Given the description of an element on the screen output the (x, y) to click on. 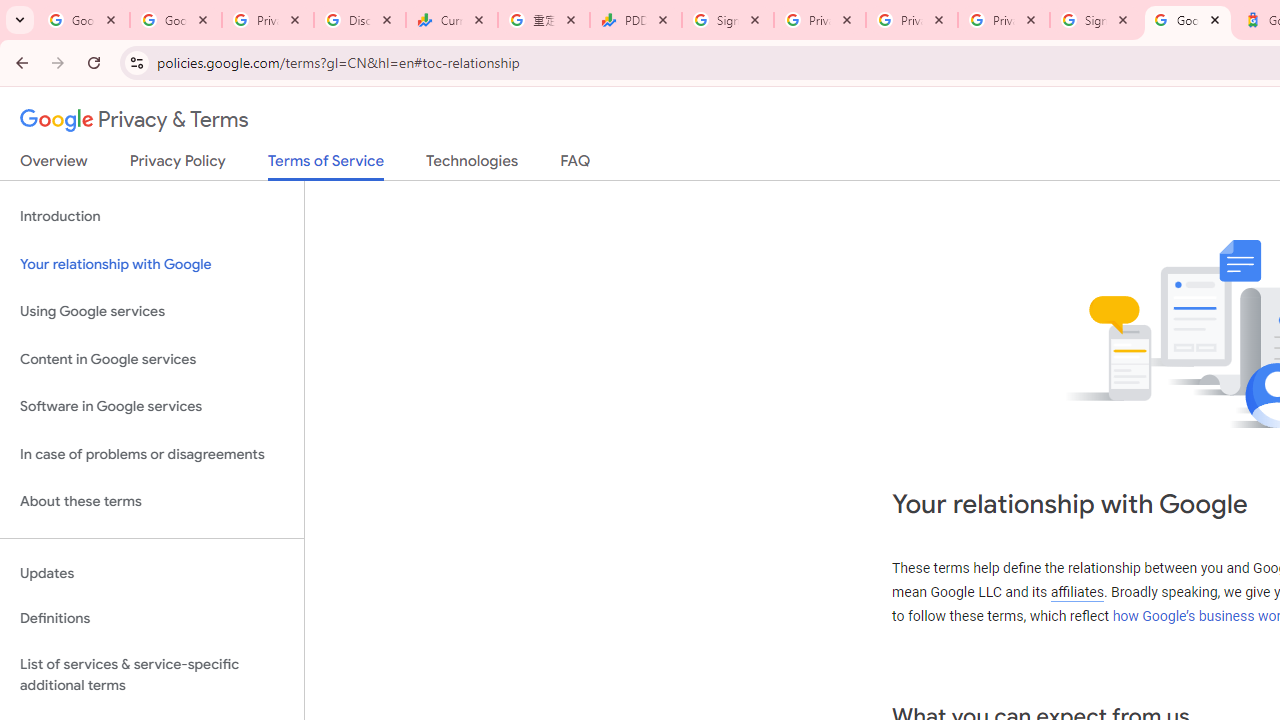
Currencies - Google Finance (451, 20)
List of services & service-specific additional terms (152, 674)
Your relationship with Google (152, 263)
affiliates (1076, 592)
